Given the description of an element on the screen output the (x, y) to click on. 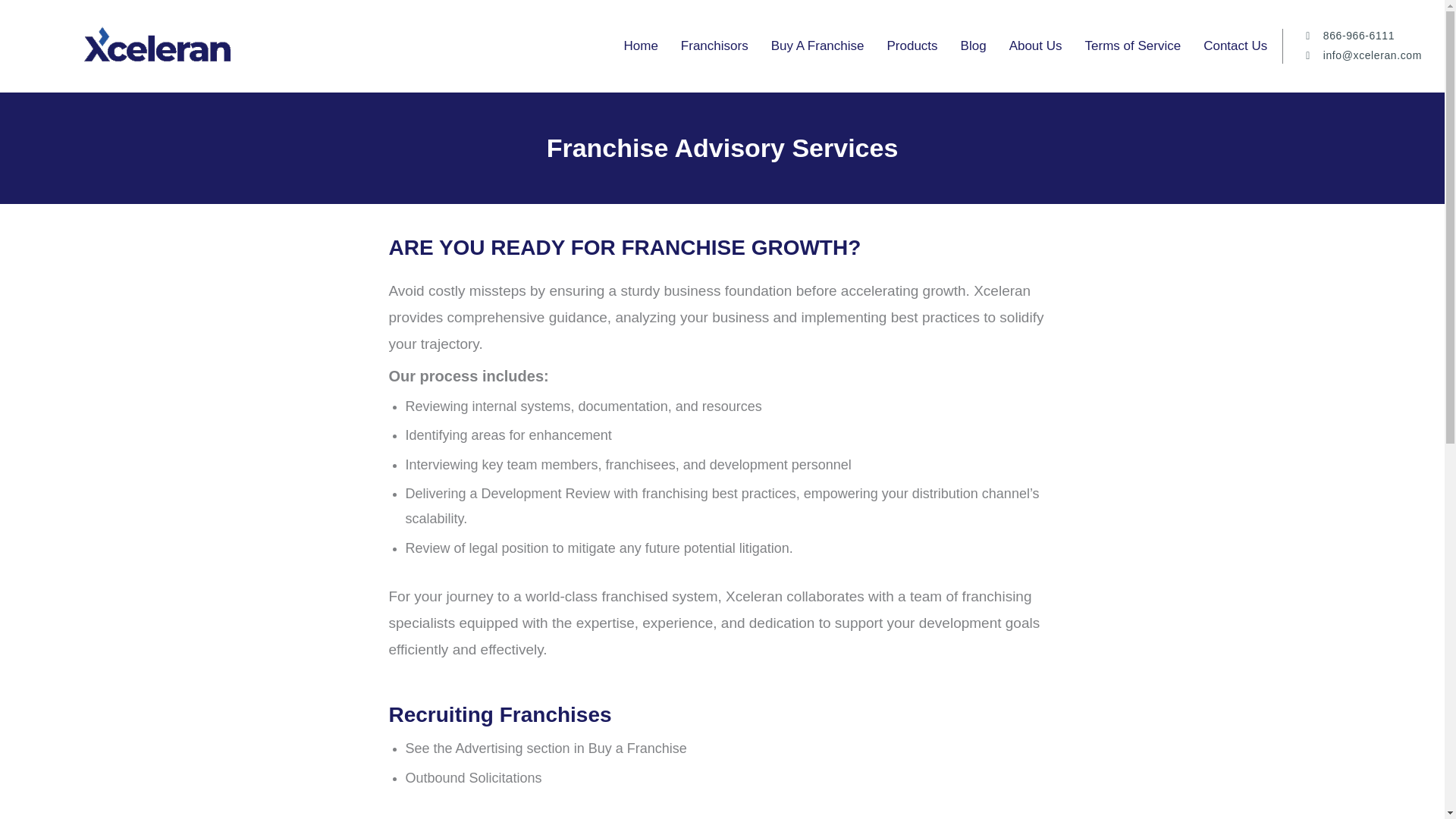
Buy A Franchise (817, 45)
Products (911, 45)
Home (640, 45)
Franchisors (713, 45)
